Given the description of an element on the screen output the (x, y) to click on. 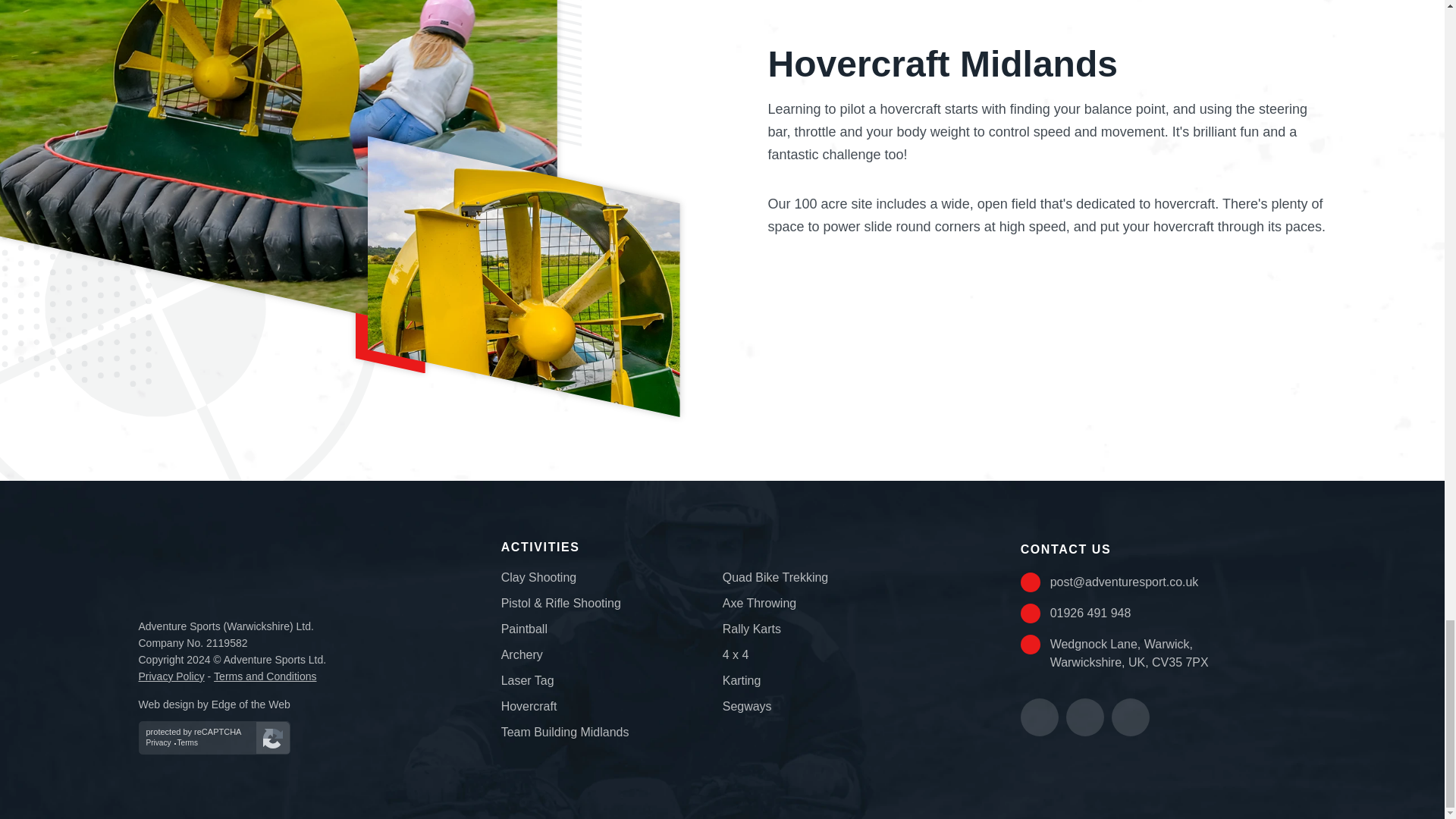
Axe Throwing (759, 603)
Quad Bike Trekking (775, 576)
Clay Shooting (538, 576)
Paintball (523, 628)
Rally Karts (751, 628)
